Given the description of an element on the screen output the (x, y) to click on. 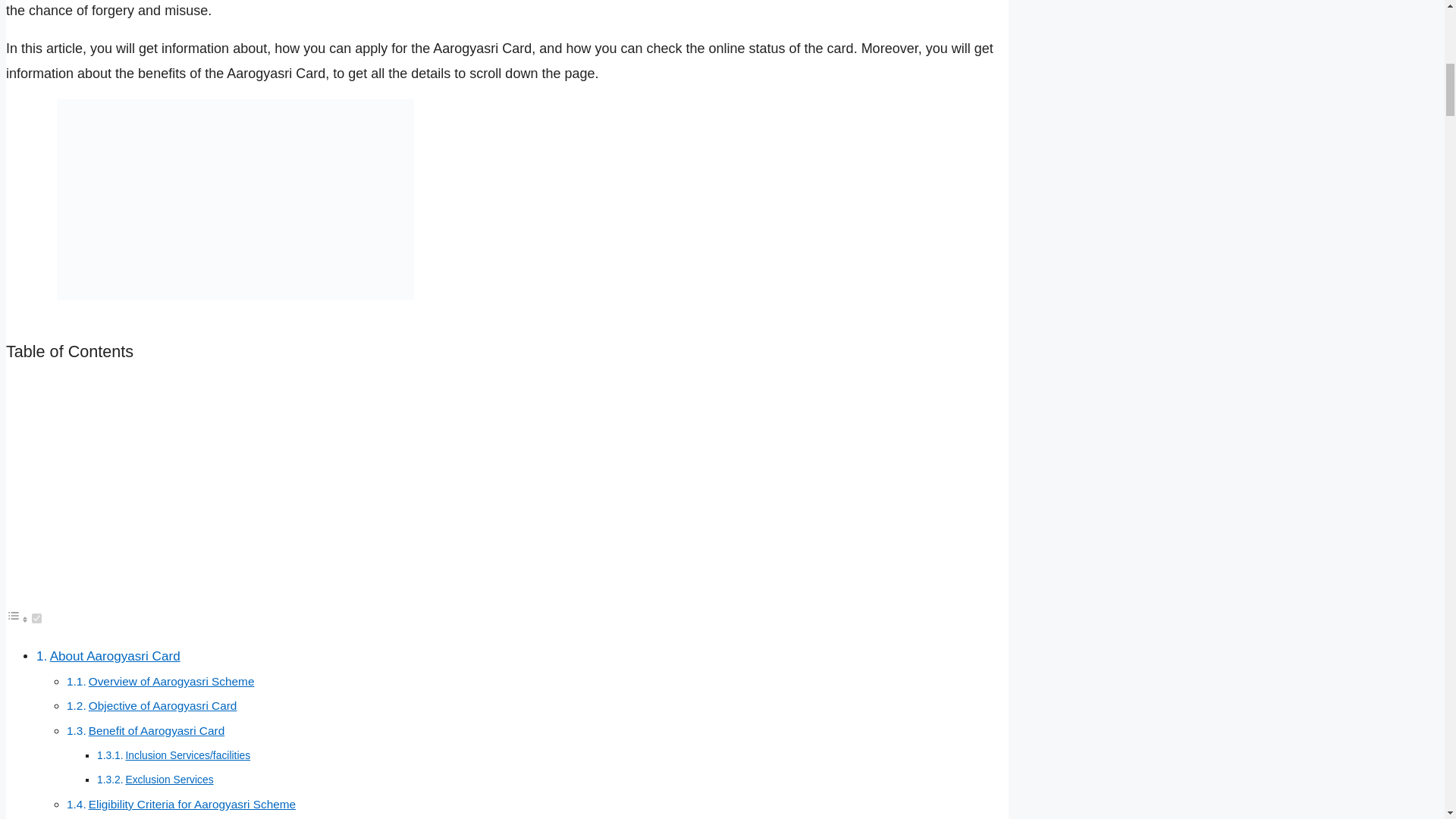
Overview of Aarogyasri Scheme (171, 680)
Eligibility Criteria for Aarogyasri Scheme (191, 803)
Exclusion Services (168, 779)
About Aarogyasri Card (114, 656)
Eligibility Criteria for Aarogyasri Scheme (191, 803)
on (37, 618)
Objective of Aarogyasri Card (162, 705)
Benefit of Aarogyasri Card (156, 730)
Benefit of Aarogyasri Card (156, 730)
Overview of Aarogyasri Scheme (171, 680)
Objective of Aarogyasri Card (162, 705)
About Aarogyasri Card (114, 656)
Exclusion Services (168, 779)
